Given the description of an element on the screen output the (x, y) to click on. 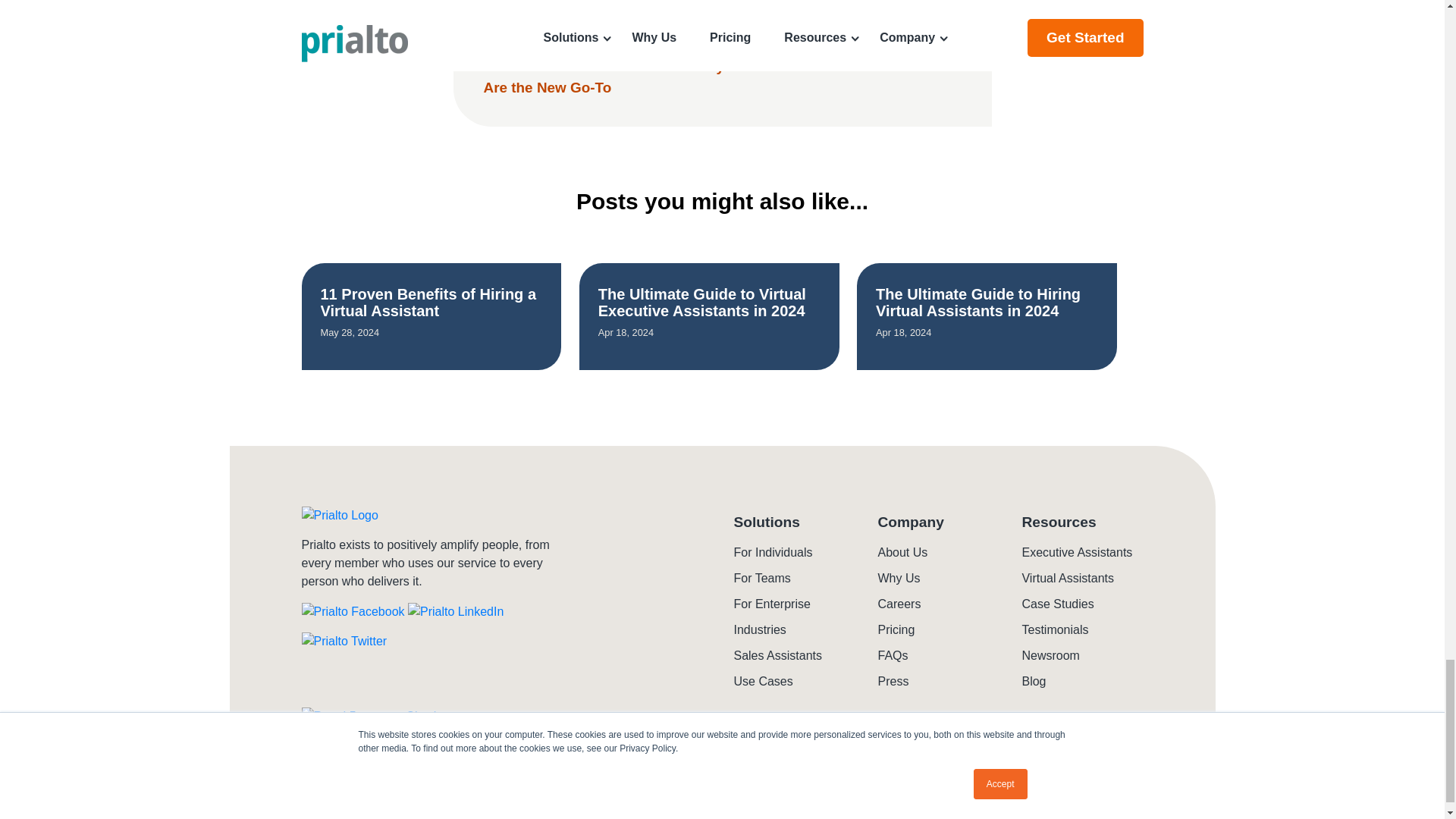
Why Outsourced Executive Assistants Are the New Go-To (719, 76)
Facebook (352, 622)
linkedin (455, 622)
11 Proven Benefits of Hiring a Virtual Assistant (427, 302)
Twitter (344, 652)
